Given the description of an element on the screen output the (x, y) to click on. 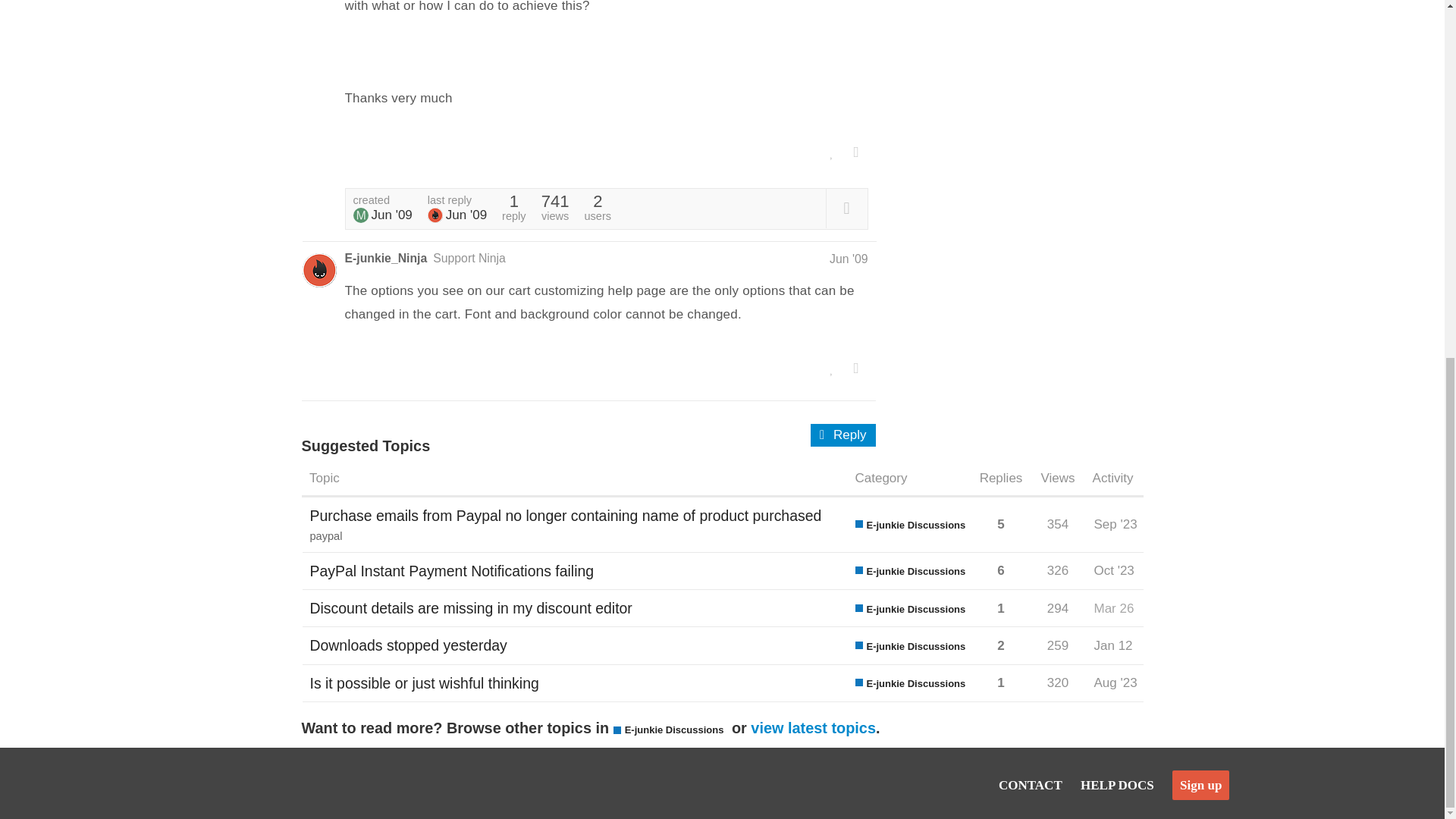
mondo (360, 215)
Jun 20, 2009 7:42 pm (848, 258)
Jun 20, 2009 7:42 pm (465, 214)
Jun 19, 2009 4:12 pm (391, 214)
last reply (457, 207)
toggle topic details (846, 208)
